Given the description of an element on the screen output the (x, y) to click on. 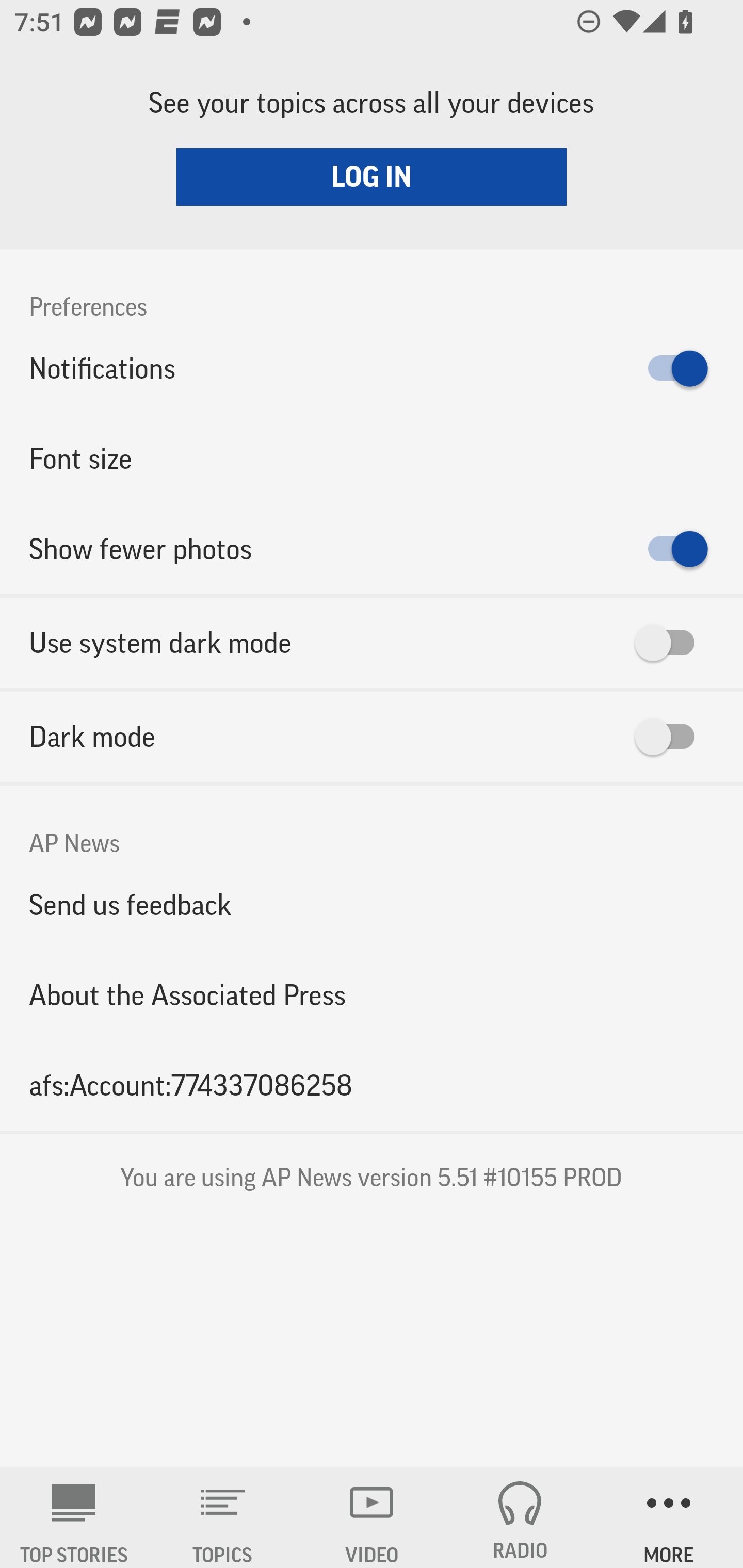
LOG IN (371, 176)
Notifications (371, 368)
Font size (371, 458)
Show fewer photos (371, 548)
Use system dark mode (371, 642)
Dark mode (371, 736)
Send us feedback (371, 904)
About the Associated Press (371, 994)
afs:Account:774337086258 (371, 1084)
AP News TOP STORIES (74, 1517)
TOPICS (222, 1517)
VIDEO (371, 1517)
RADIO (519, 1517)
MORE (668, 1517)
